Given the description of an element on the screen output the (x, y) to click on. 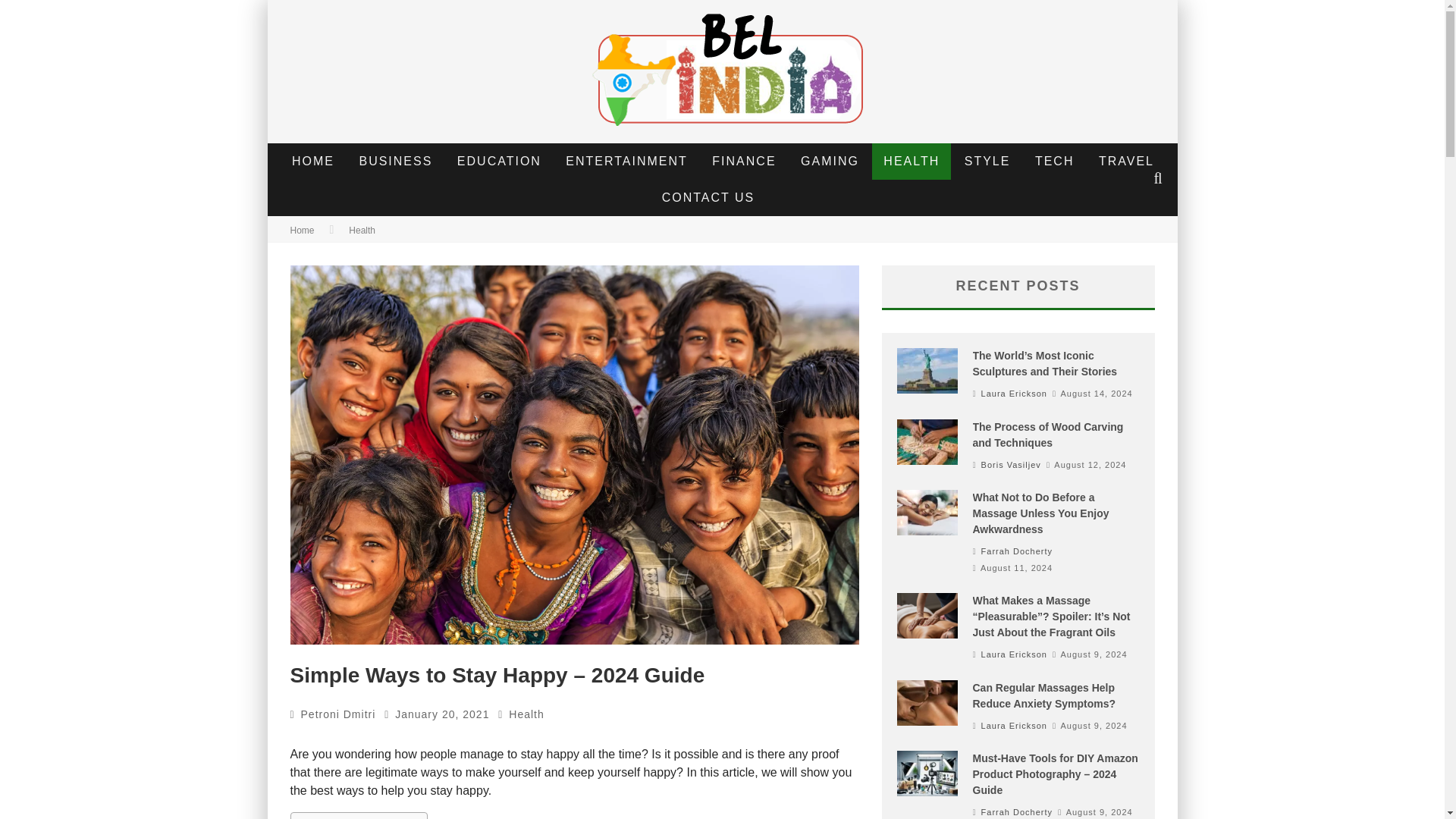
GAMING (829, 161)
TECH (1054, 161)
Home (301, 230)
EDUCATION (499, 161)
View all posts in Health (525, 714)
View all posts in Health (362, 230)
FINANCE (743, 161)
TRAVEL (1126, 161)
Health (525, 714)
CONTACT US (708, 197)
